Given the description of an element on the screen output the (x, y) to click on. 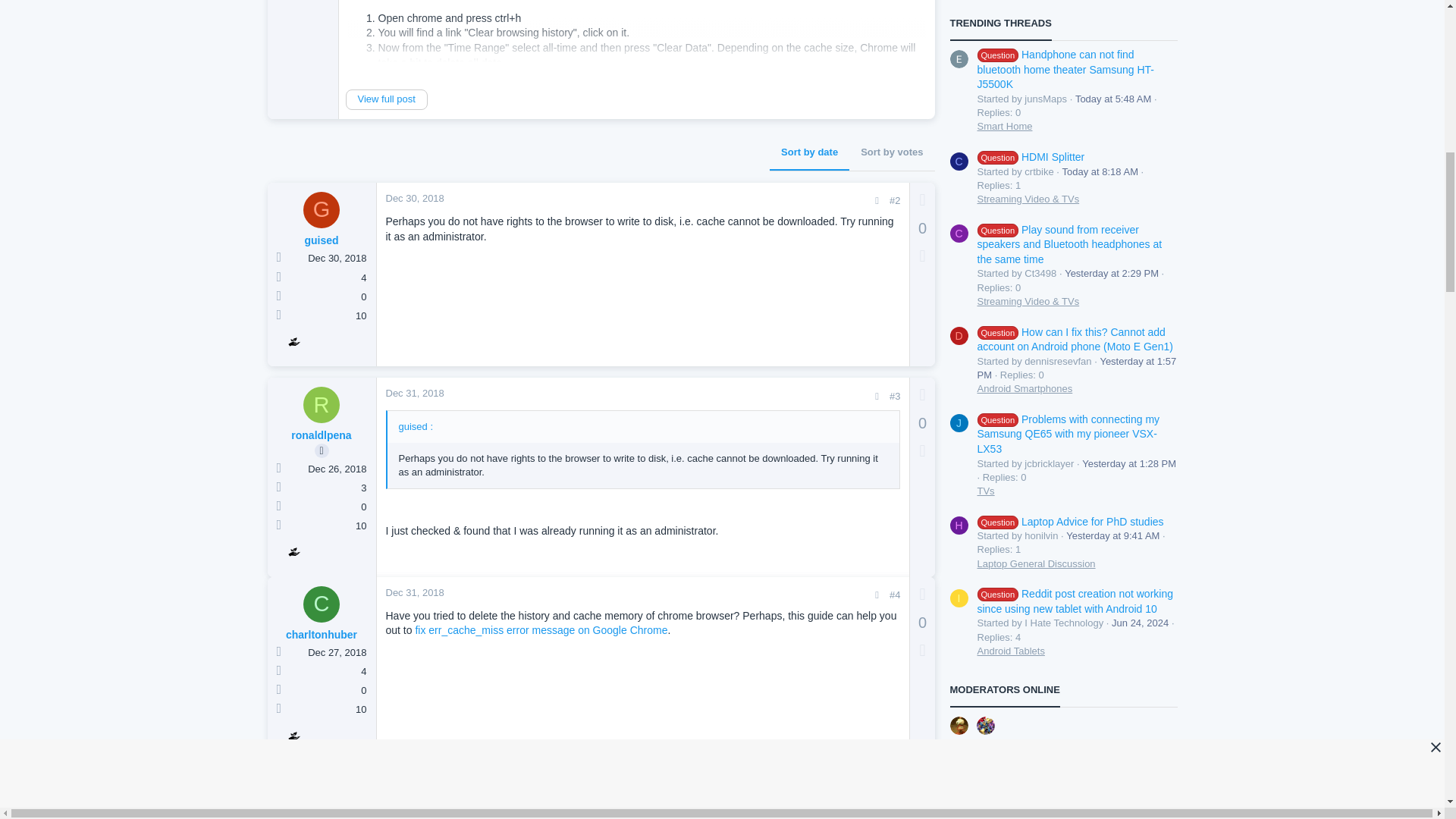
Jan 1, 2019 at 12:48 AM (410, 776)
Dec 31, 2018 at 3:19 AM (414, 592)
Dec 31, 2018 at 2:53 AM (414, 392)
Dec 30, 2018 at 2:00 PM (414, 197)
